Given the description of an element on the screen output the (x, y) to click on. 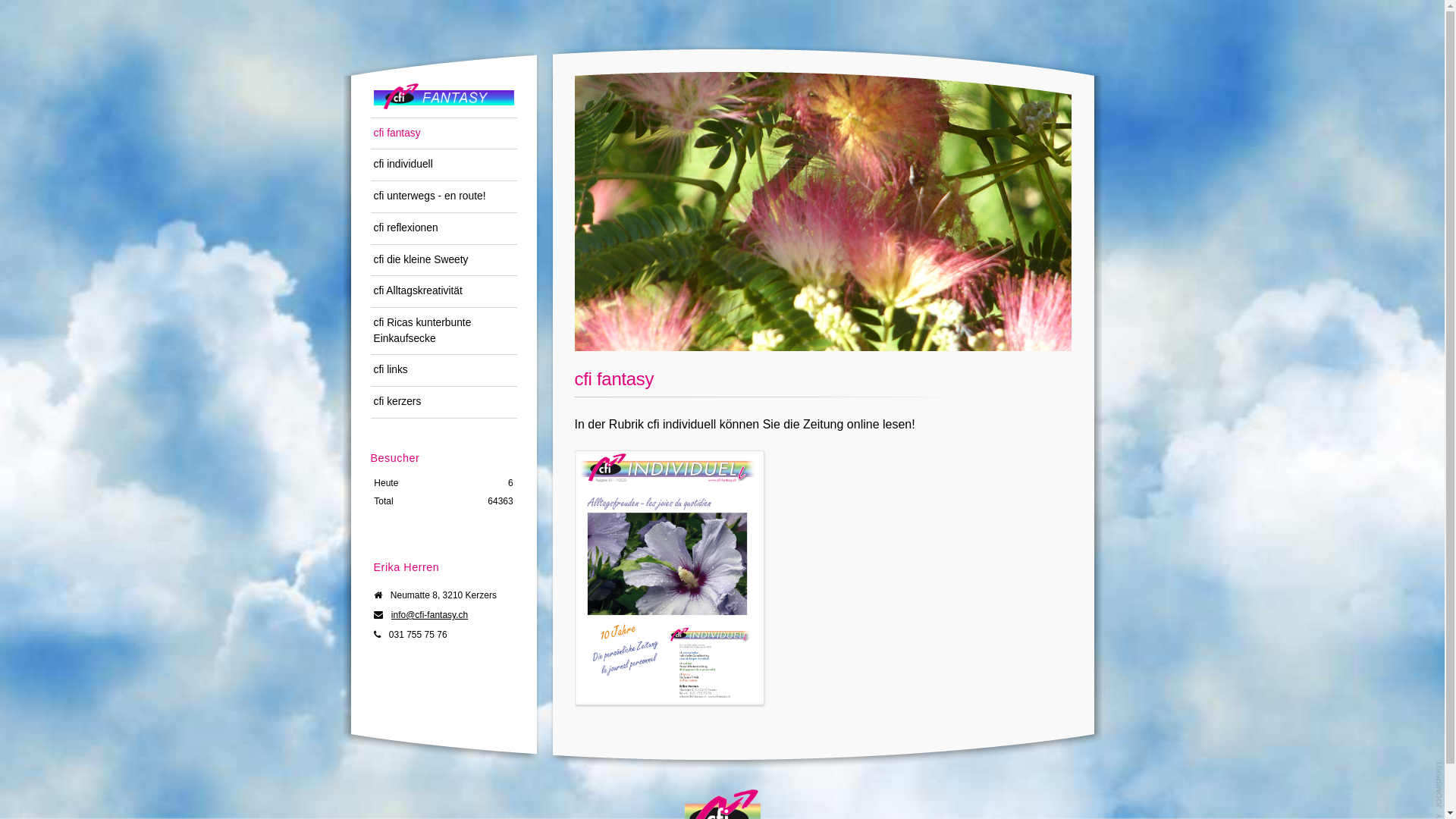
info@cfi-fantasy.ch Element type: text (429, 614)
cfi Ricas kunterbunte Einkaufsecke Element type: text (443, 330)
cfi individuell Element type: text (443, 164)
cfi kerzers Element type: text (443, 401)
cfi fantasy Element type: text (443, 133)
cfi unterwegs - en route! Element type: text (443, 196)
cfi die kleine Sweety Element type: text (443, 260)
cfi reflexionen Element type: text (443, 228)
cfi links Element type: text (443, 369)
cfi individuell Element type: text (681, 423)
